Given the description of an element on the screen output the (x, y) to click on. 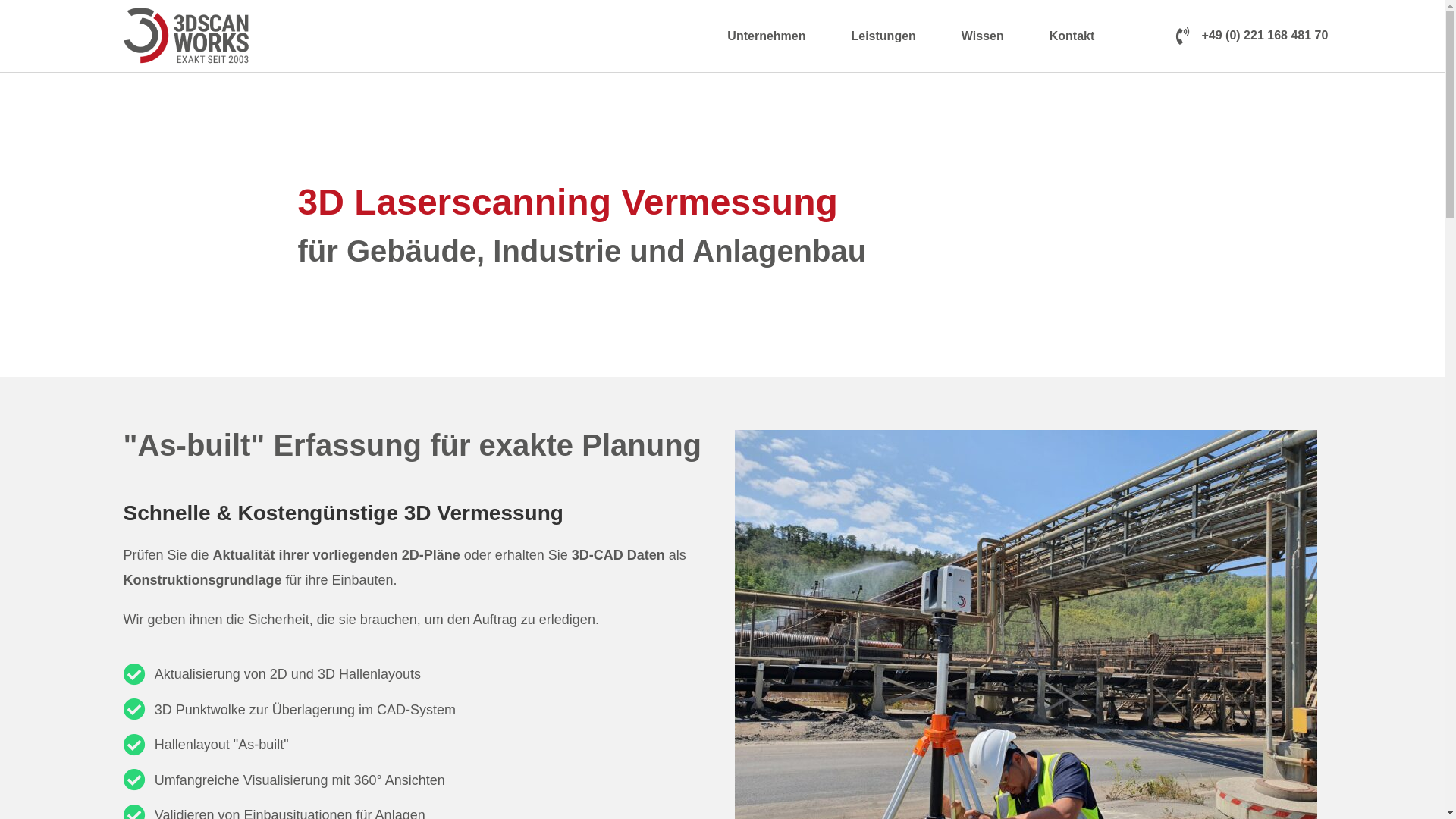
Kontakt Element type: text (1071, 35)
Unternehmen Element type: text (769, 35)
Wissen Element type: text (986, 35)
Leistungen Element type: text (886, 35)
+49 (0) 221 168 481 70 Element type: text (1252, 36)
